Given the description of an element on the screen output the (x, y) to click on. 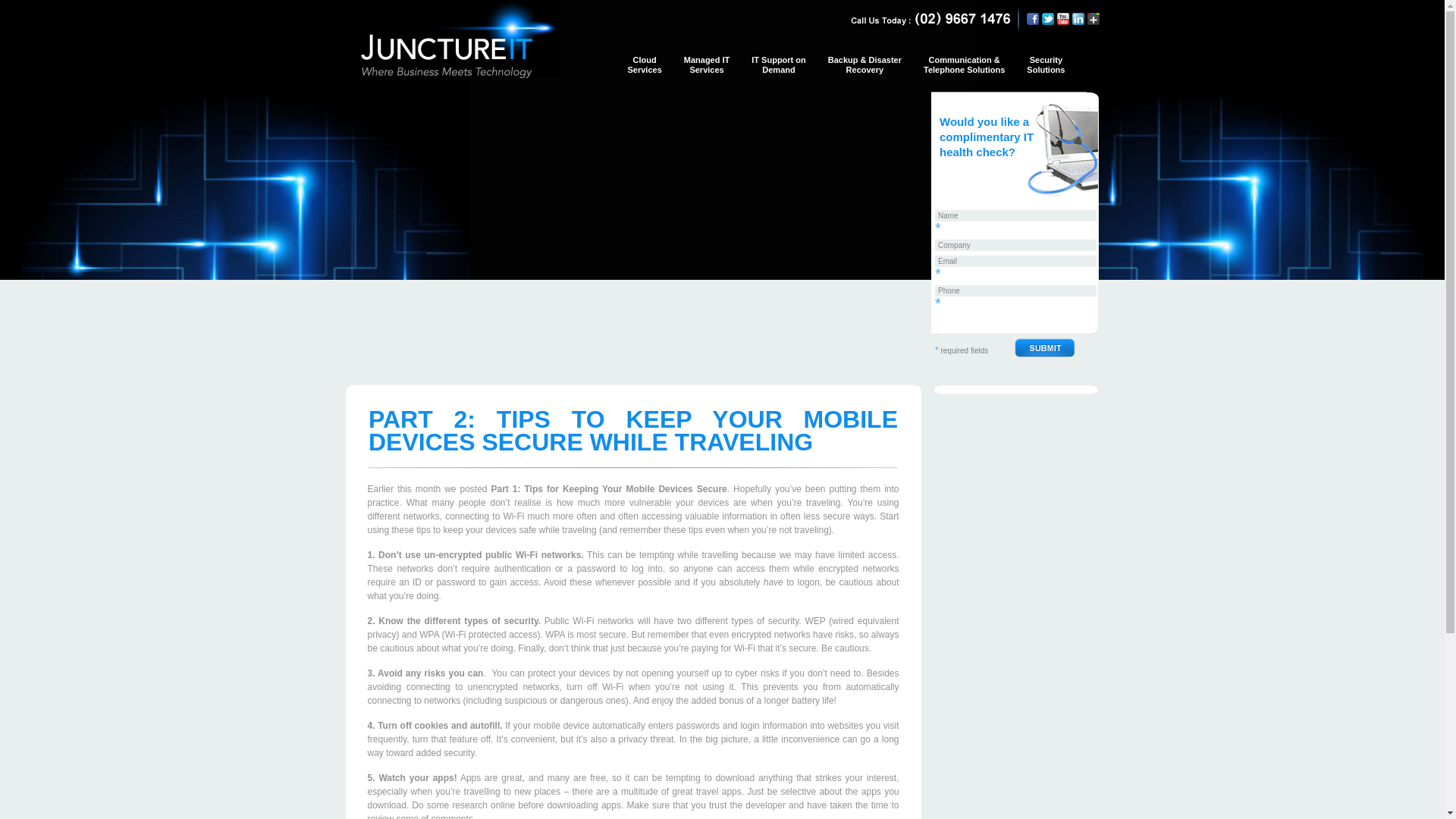
Backup & Disaster
Recovery Element type: text (864, 69)
Security
Solutions Element type: text (1045, 69)
IT Support on
Demand Element type: text (777, 69)
Managed IT
Services Element type: text (706, 69)
Cloud
Services Element type: text (644, 69)
Communication &
Telephone Solutions Element type: text (964, 69)
